Given the description of an element on the screen output the (x, y) to click on. 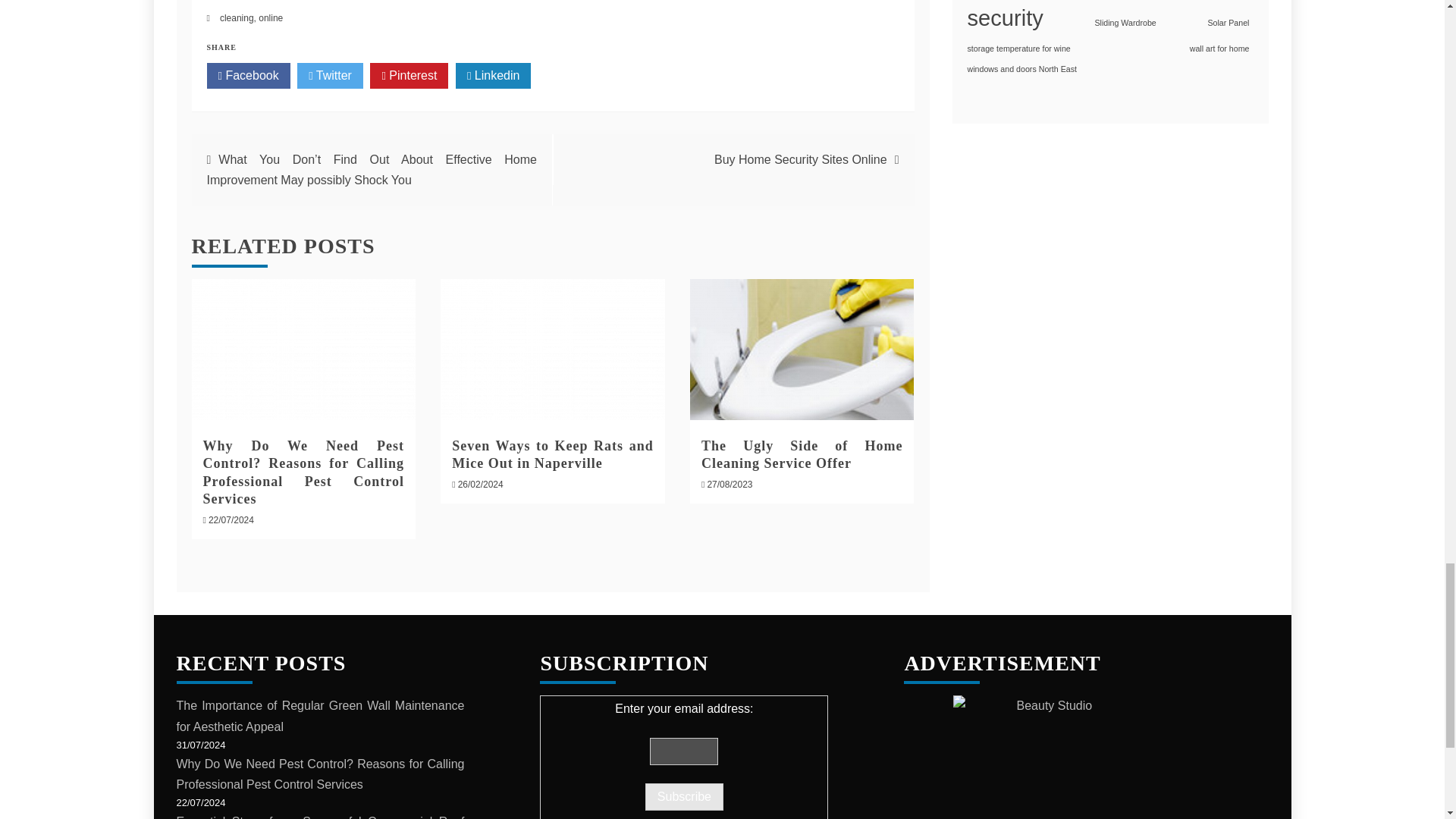
The Ugly Side of Home Cleaning Service Offer (801, 454)
Subscribe (684, 796)
Pinterest (408, 75)
Seven Ways to Keep Rats and Mice Out in Naperville (552, 349)
Twitter (329, 75)
online (270, 18)
Seven Ways to Keep Rats and Mice Out in Naperville (551, 454)
The Ugly Side of Home Cleaning Service Offer (802, 349)
